Given the description of an element on the screen output the (x, y) to click on. 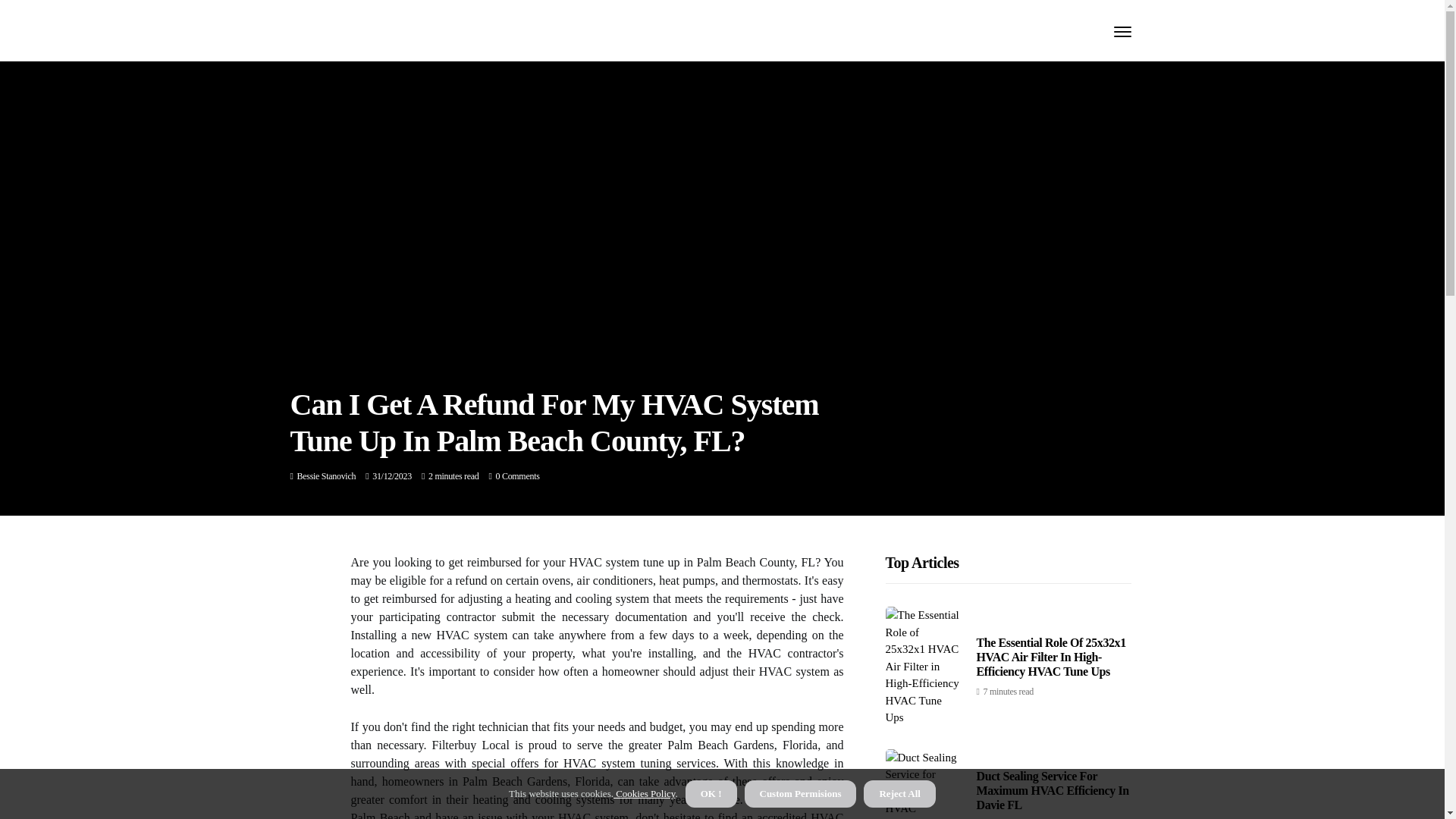
Bessie Stanovich (326, 475)
Duct Sealing Service For Maximum HVAC Efficiency In Davie FL (1052, 790)
Posts by Bessie Stanovich (326, 475)
0 Comments (518, 475)
